Given the description of an element on the screen output the (x, y) to click on. 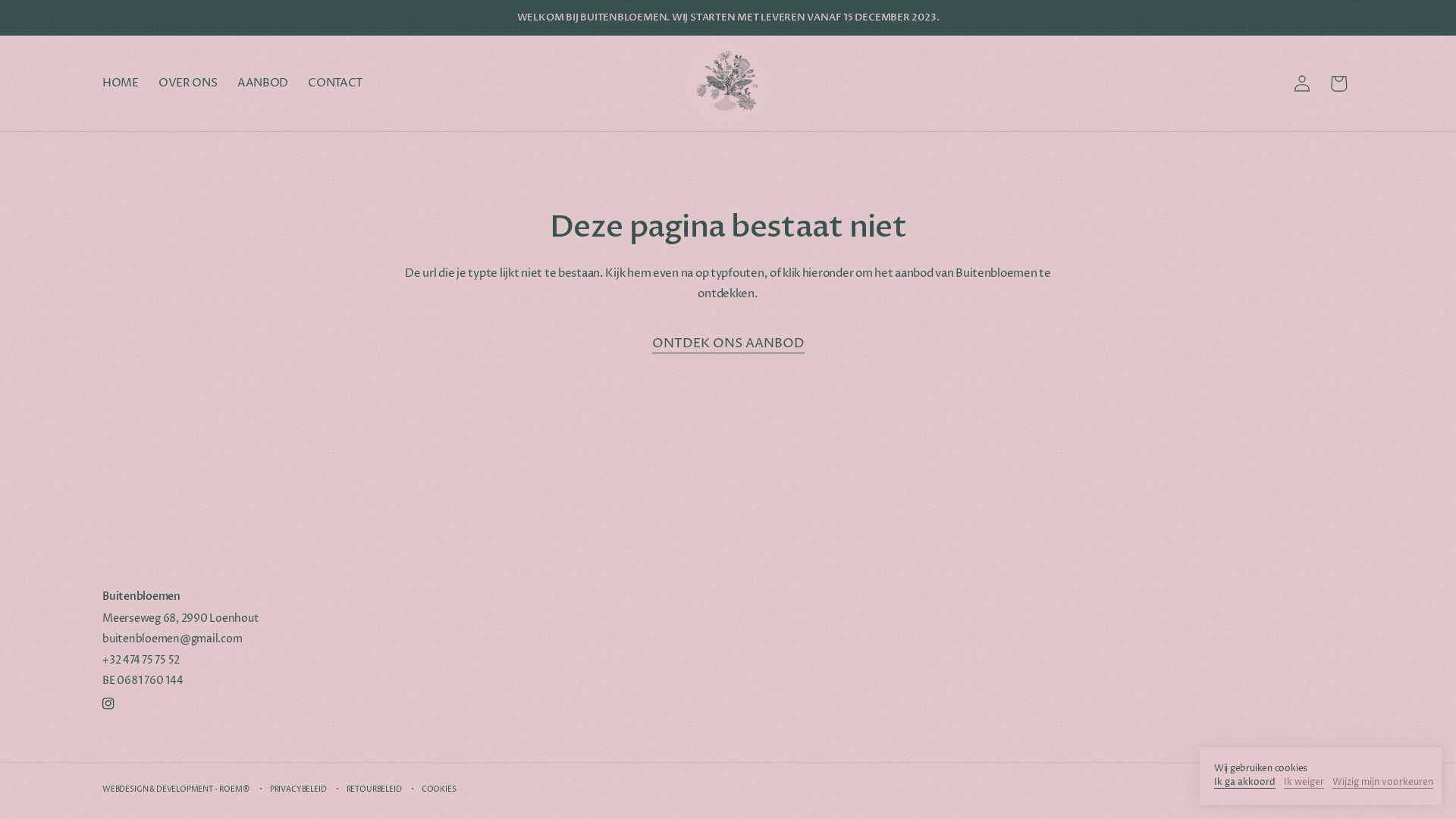
AANBOD Element type: text (262, 82)
Wijzig mijn voorkeuren Element type: text (1382, 783)
Ik ga akkoord Element type: text (1244, 783)
HOME Element type: text (120, 82)
RETOURBELEID Element type: text (373, 790)
Inloggen Element type: text (1301, 83)
PRIVACYBELEID Element type: text (297, 790)
ONTDEK ONS AANBOD Element type: text (728, 345)
Winkelmandje Element type: text (1338, 83)
CONTACT Element type: text (335, 82)
Ik weiger Element type: text (1303, 783)
buitenbloemen@gmail.com Element type: text (171, 639)
+32 474 75 75 52 Element type: text (140, 660)
COOKIES Element type: text (438, 790)
OVER ONS Element type: text (187, 82)
Instagram Element type: text (107, 703)
